Given the description of an element on the screen output the (x, y) to click on. 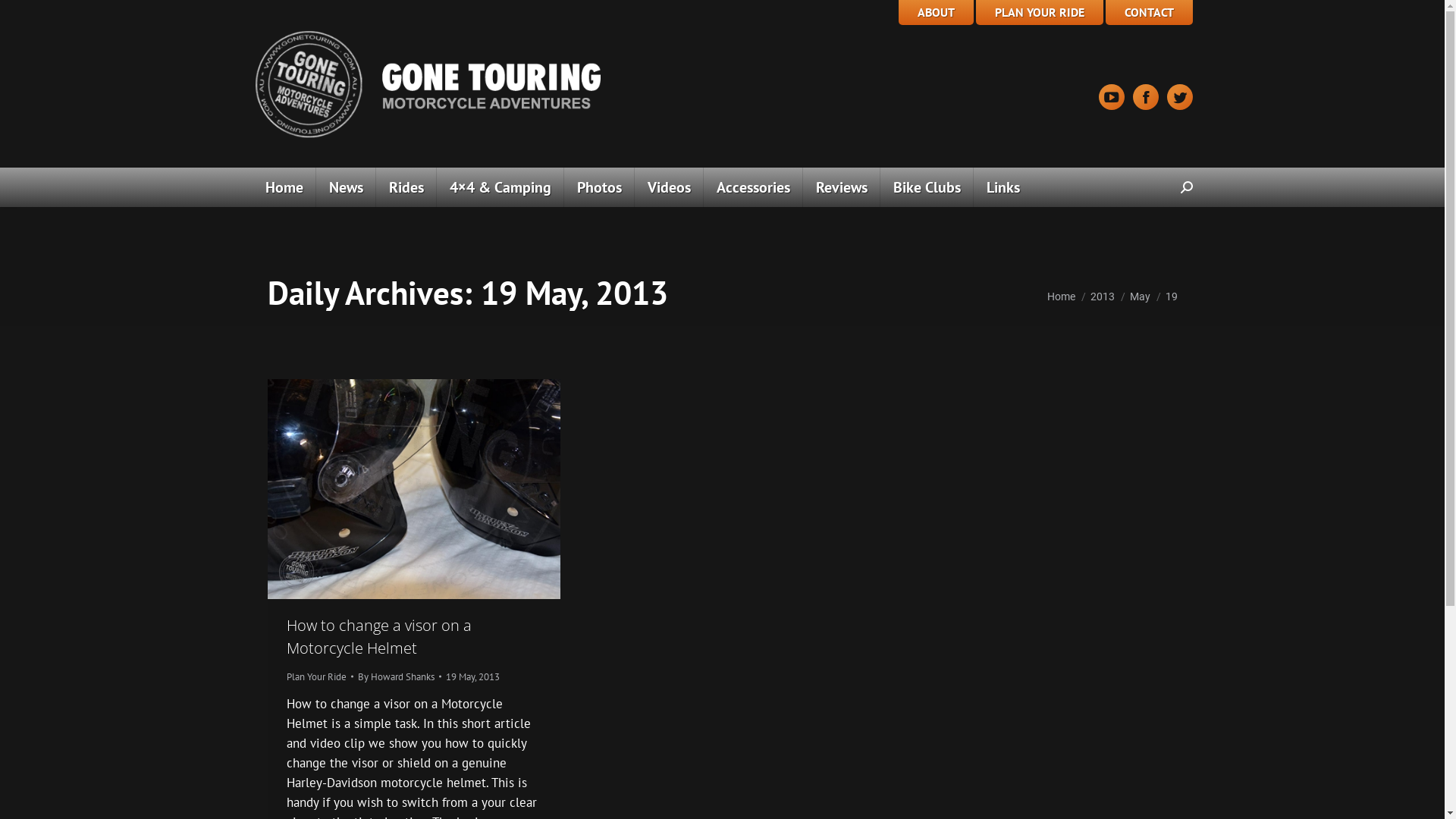
May Element type: text (1139, 296)
Photos Element type: text (599, 187)
Accessories Element type: text (753, 187)
YouTube page opens in new window Element type: text (1110, 96)
Bike Clubs Element type: text (925, 187)
ABOUT Element type: text (934, 12)
By Howard Shanks Element type: text (399, 676)
Facebook page opens in new window Element type: text (1145, 96)
Twitter page opens in new window Element type: text (1179, 96)
Plan Your Ride Element type: text (316, 676)
motorcyle_visor_replacement_001 Element type: hover (412, 489)
CONTACT Element type: text (1148, 12)
Videos Element type: text (667, 187)
PLAN YOUR RIDE Element type: text (1038, 12)
19 May, 2013 Element type: text (472, 676)
Home Element type: text (283, 187)
News Element type: text (345, 187)
Home Element type: text (1060, 296)
Go! Element type: text (24, 16)
Links Element type: text (1002, 187)
2013 Element type: text (1102, 296)
How to change a visor on a Motorcycle Helmet Element type: text (378, 635)
Reviews Element type: text (840, 187)
Rides Element type: text (406, 187)
